Given the description of an element on the screen output the (x, y) to click on. 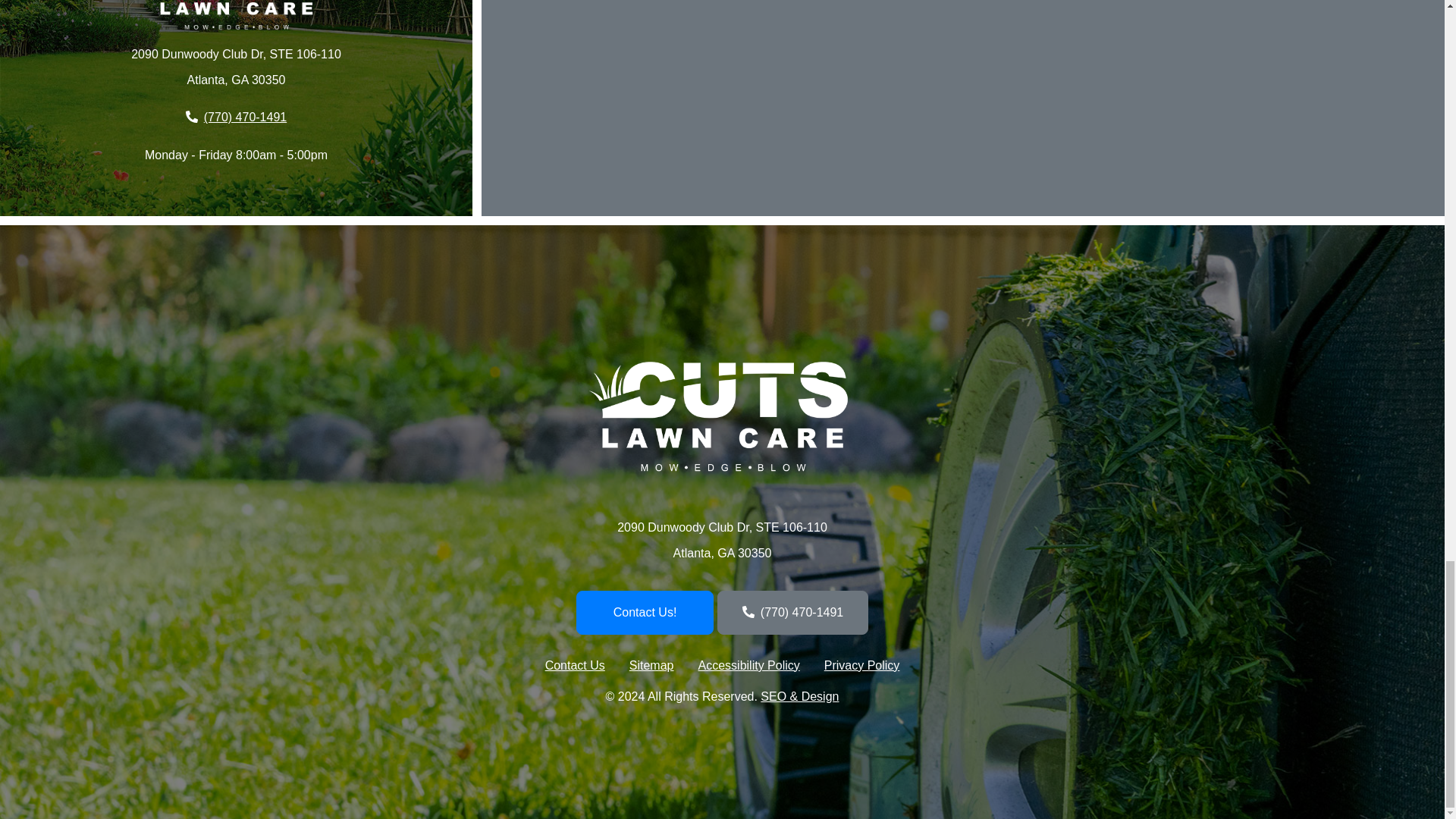
Contact Us (574, 665)
Accessibility Policy (747, 665)
Skip footer nav (746, 345)
Sitemap (651, 665)
Privacy Policy (862, 665)
Digital Marketing SEO Agency (799, 696)
Contact Us! (645, 612)
